Given the description of an element on the screen output the (x, y) to click on. 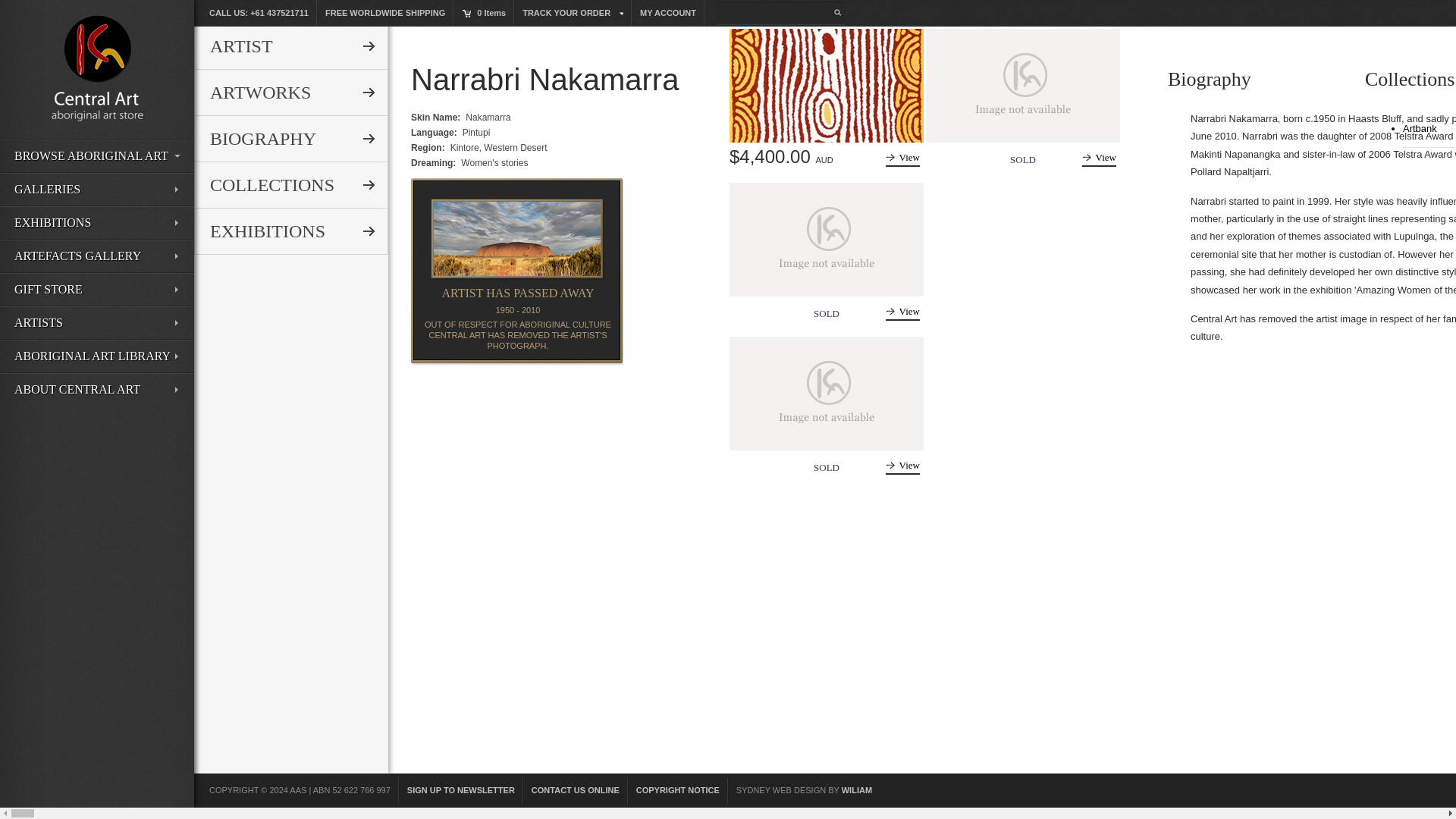
Exhibitions (96, 223)
Search artworks (96, 141)
Aboriginal Art Library (96, 356)
GIFT STORE (96, 289)
ABORIGINAL ART LIBRARY (96, 356)
EXHIBITIONS (96, 223)
BROWSE ABORIGINAL ART (96, 155)
Artists (96, 323)
Galleries (96, 189)
Artefacts Gallery (96, 255)
ARTISTS (96, 323)
About Central Art (96, 389)
ARTEFACTS GALLERY (96, 255)
Gift Store (96, 289)
ABOUT CENTRAL ART (96, 389)
